Given the description of an element on the screen output the (x, y) to click on. 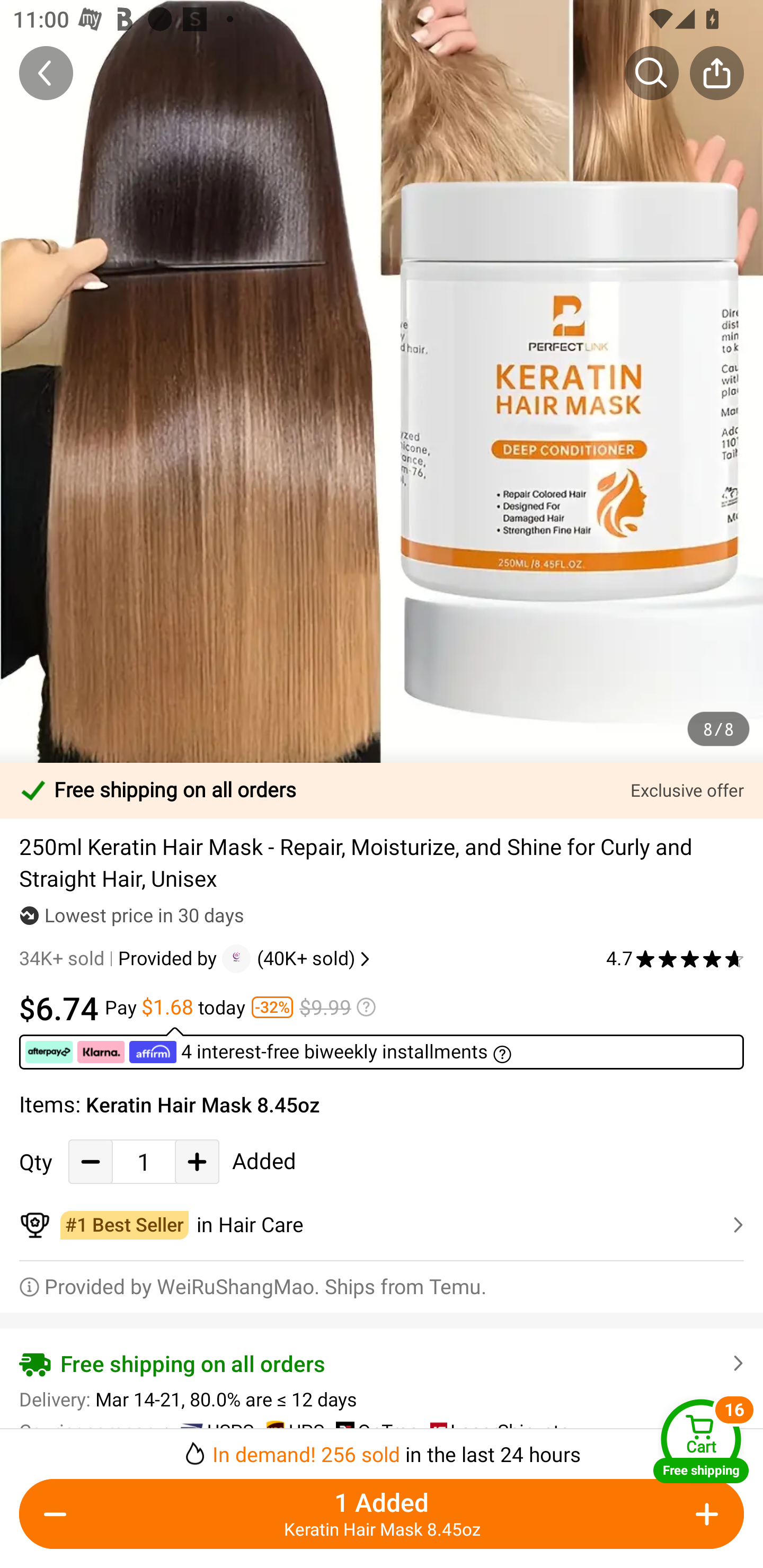
Back (46, 72)
Share (716, 72)
Free shipping on all orders Exclusive offer (381, 790)
4.7 (674, 958)
￼ ￼ ￼ 4 interest-free biweekly installments ￼ (381, 1048)
Decrease Quantity Button (90, 1161)
1 (143, 1161)
Add Quantity button (196, 1161)
￼￼in Hair Care (381, 1225)
Cart Free shipping Cart (701, 1440)
￼￼In demand! 256 sold in the last 24 hours (381, 1448)
Decrease Quantity Button (59, 1513)
Add Quantity button (703, 1513)
